Given the description of an element on the screen output the (x, y) to click on. 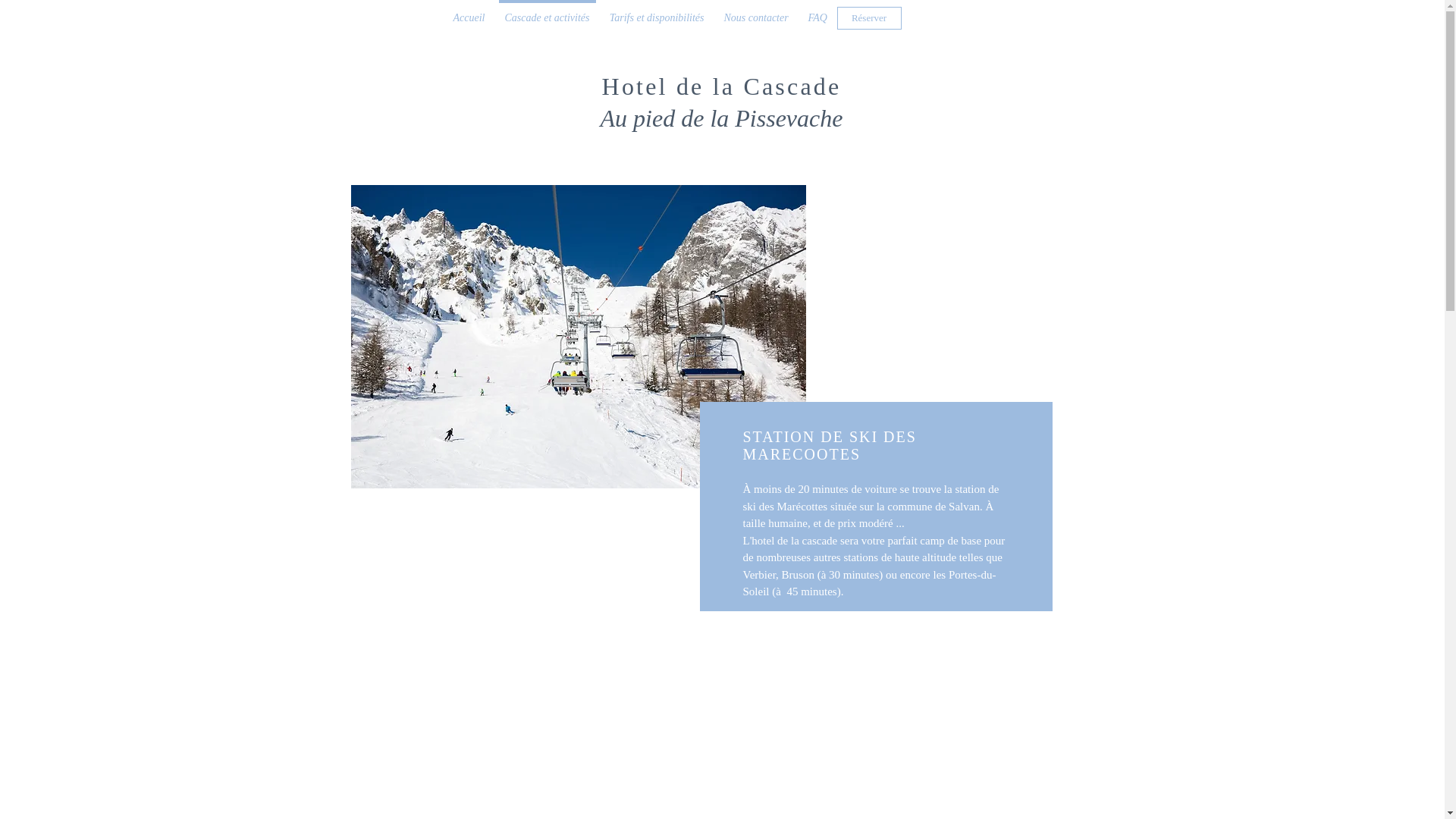
Nous contacter Element type: text (756, 11)
FAQ Element type: text (816, 11)
Accueil Element type: text (468, 11)
Hotel de la Cascade Element type: text (721, 86)
